Given the description of an element on the screen output the (x, y) to click on. 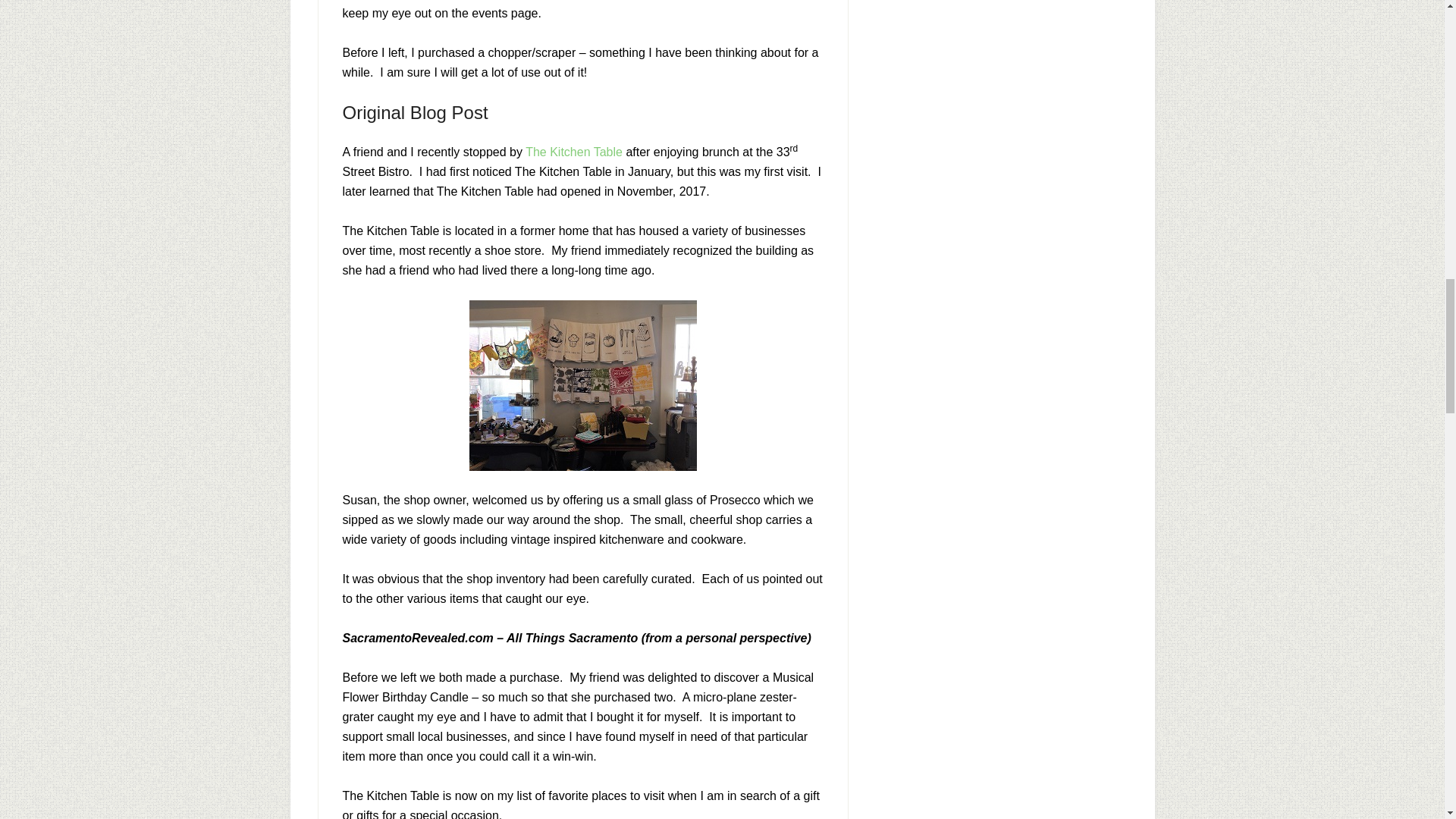
The Kitchen Table (574, 151)
